Given the description of an element on the screen output the (x, y) to click on. 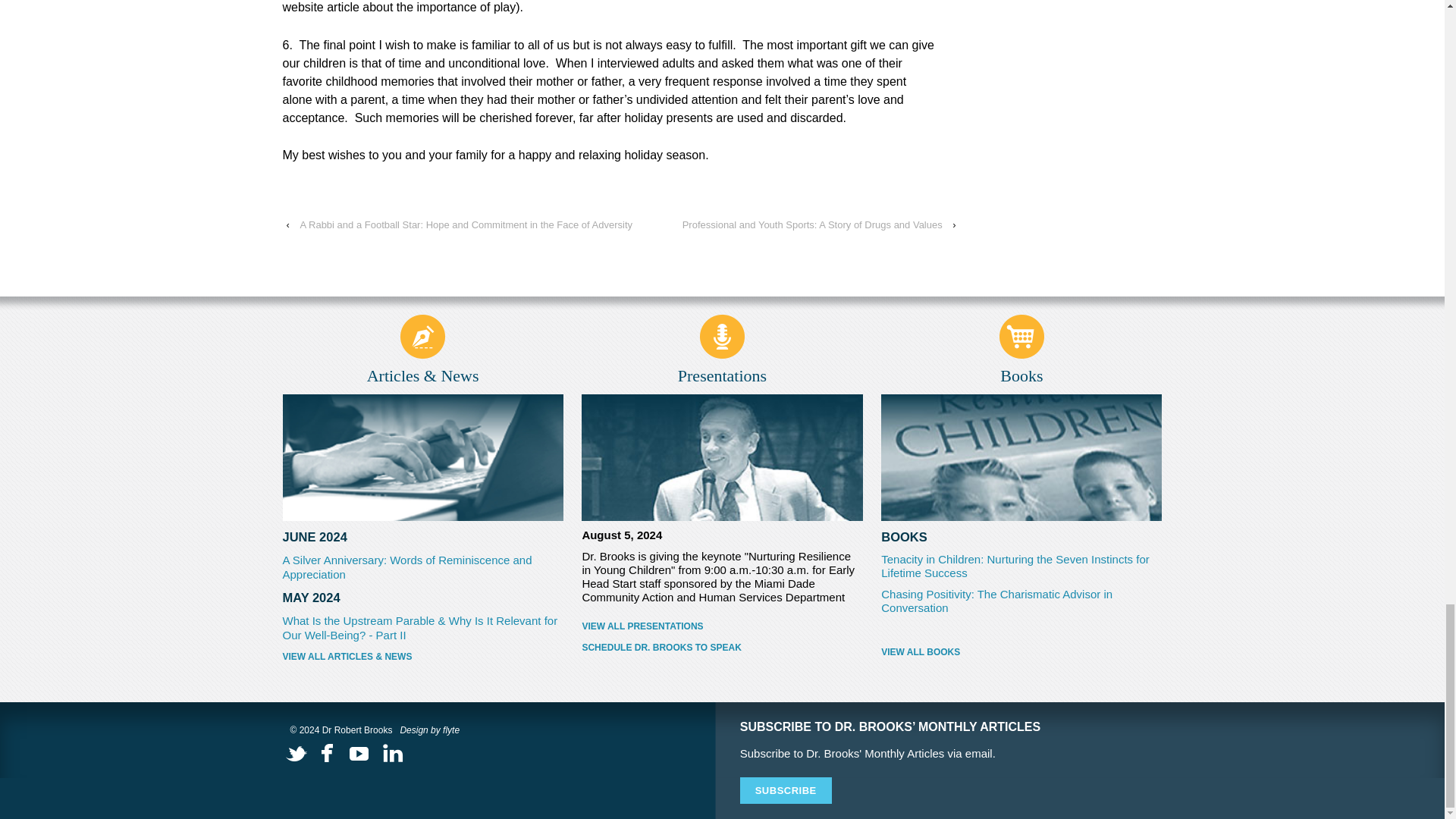
Design by flyte (429, 729)
VIEW ALL BOOKS (919, 652)
SUBSCRIBE (785, 790)
SCHEDULE DR. BROOKS TO SPEAK (720, 647)
Chasing Positivity: The Charismatic Advisor in Conversation (996, 601)
Professional and Youth Sports: A Story of Drugs and Values (812, 224)
A Silver Anniversary: Words of Reminiscence and Appreciation (406, 567)
VIEW ALL PRESENTATIONS (720, 626)
